Given the description of an element on the screen output the (x, y) to click on. 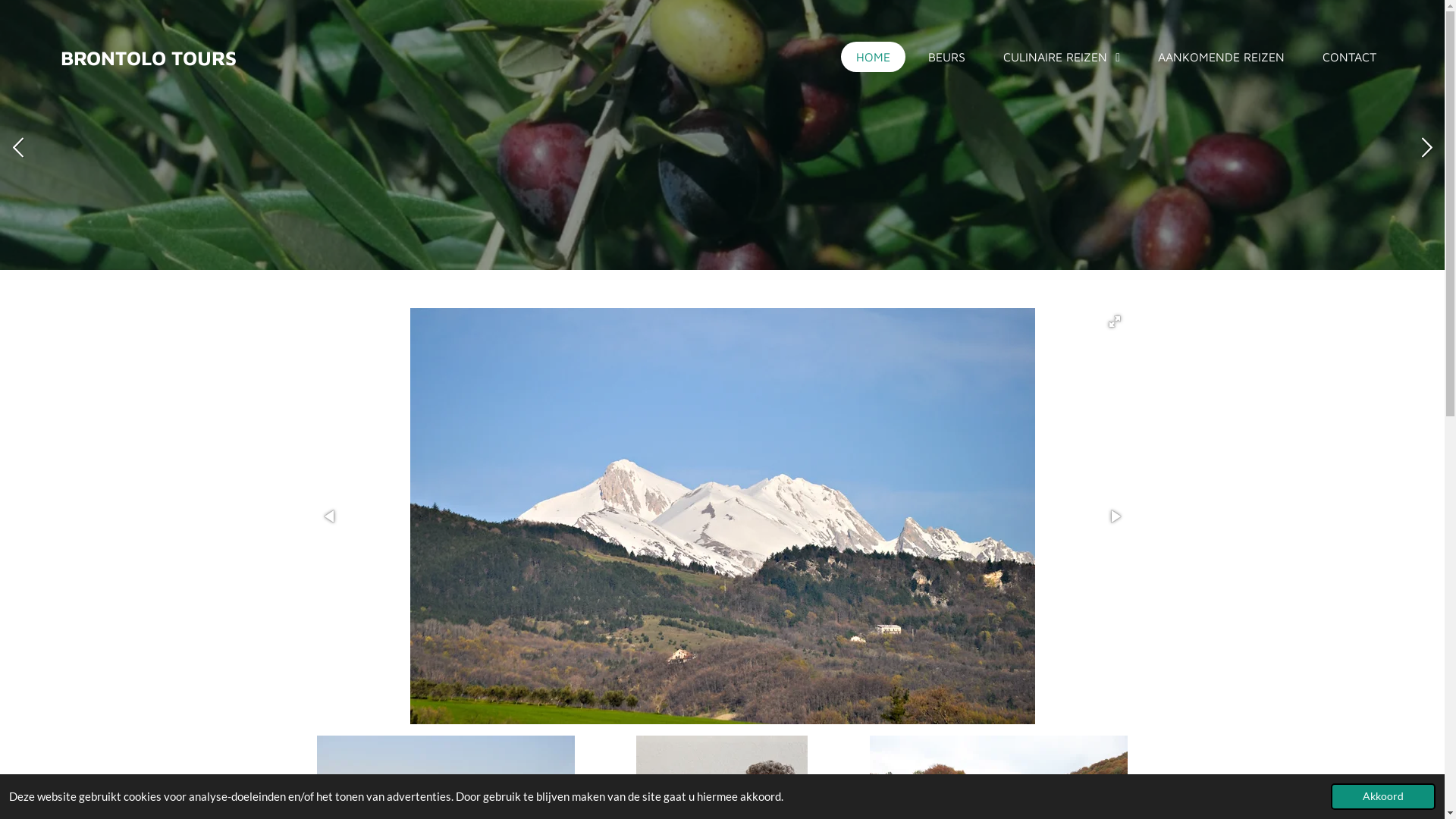
CULINAIRE REIZEN Element type: text (1061, 56)
BEURS Element type: text (946, 56)
HOME Element type: text (872, 56)
CONTACT Element type: text (1349, 56)
Akkoord Element type: text (1382, 796)
AANKOMENDE REIZEN Element type: text (1220, 56)
